Given the description of an element on the screen output the (x, y) to click on. 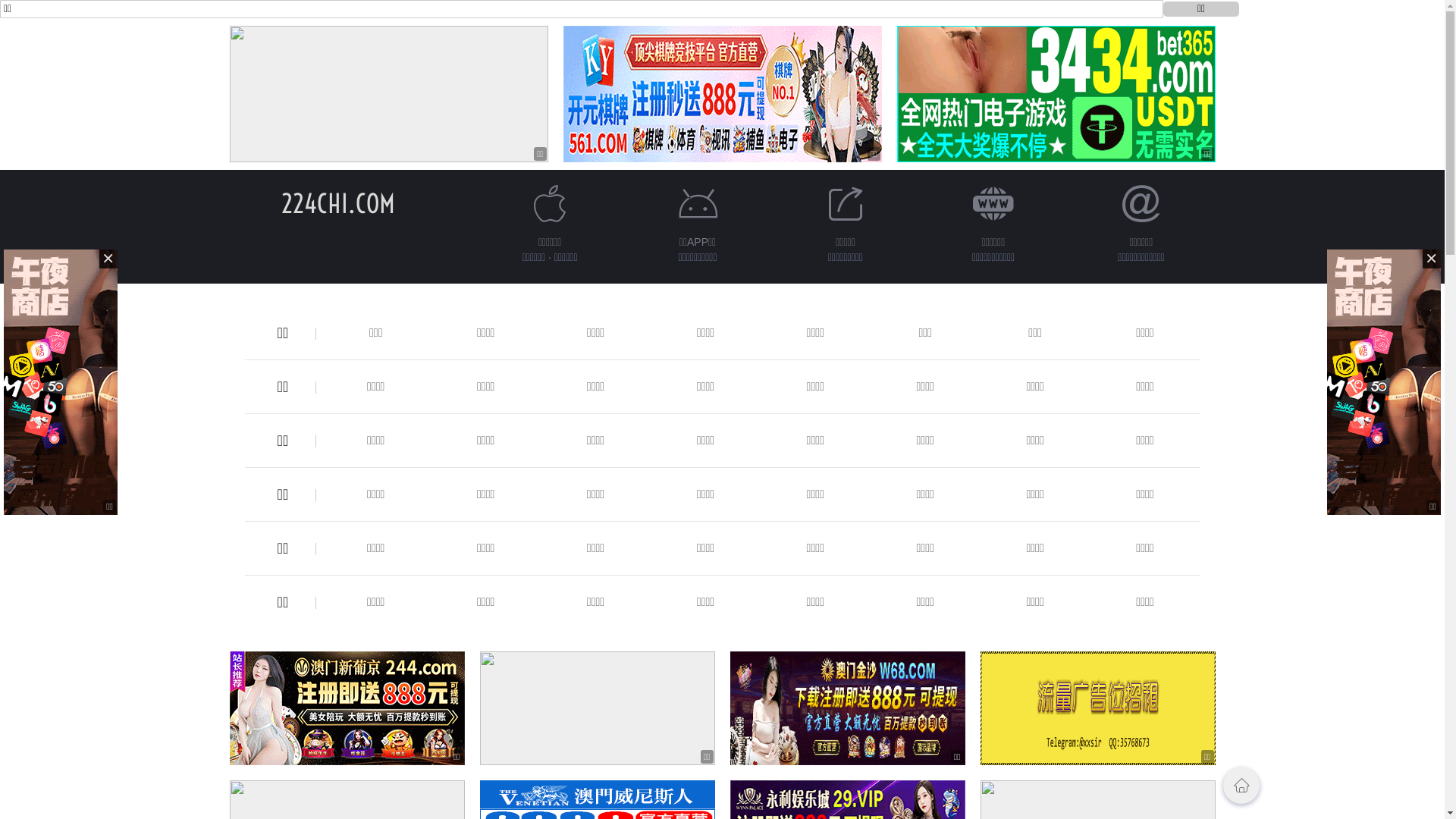
224CHI.COM Element type: text (337, 203)
